Given the description of an element on the screen output the (x, y) to click on. 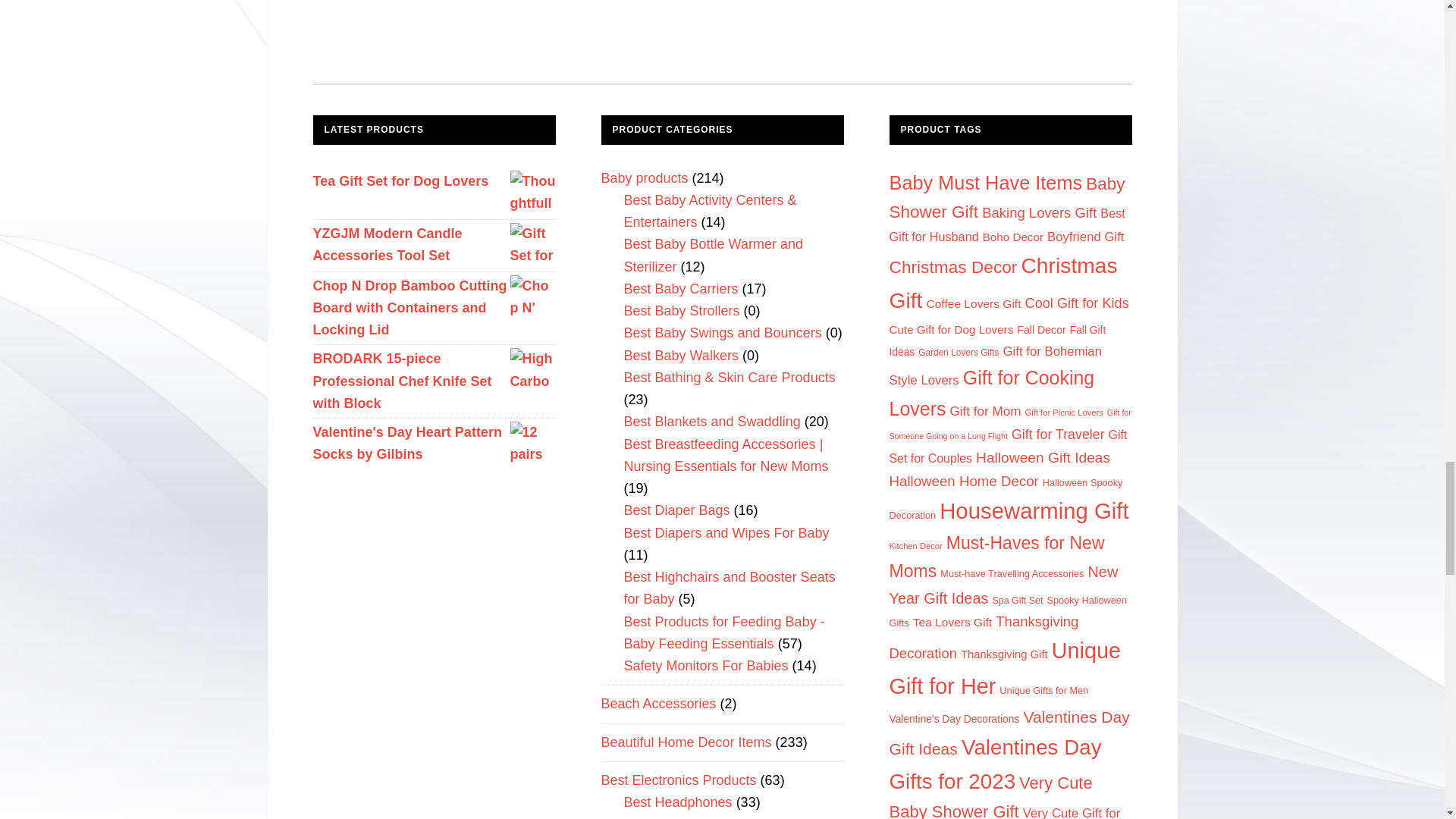
Best Baby Bottle Warmer and Sterilizer (712, 254)
Valentine's Day Heart Pattern Socks by Gilbins (433, 443)
YZGJM Modern Candle Accessories Tool Set (433, 244)
BRODARK 15-piece Professional Chef Knife Set with Block (433, 381)
Tea Gift Set for Dog Lovers (433, 181)
Baby products (643, 177)
